Given the description of an element on the screen output the (x, y) to click on. 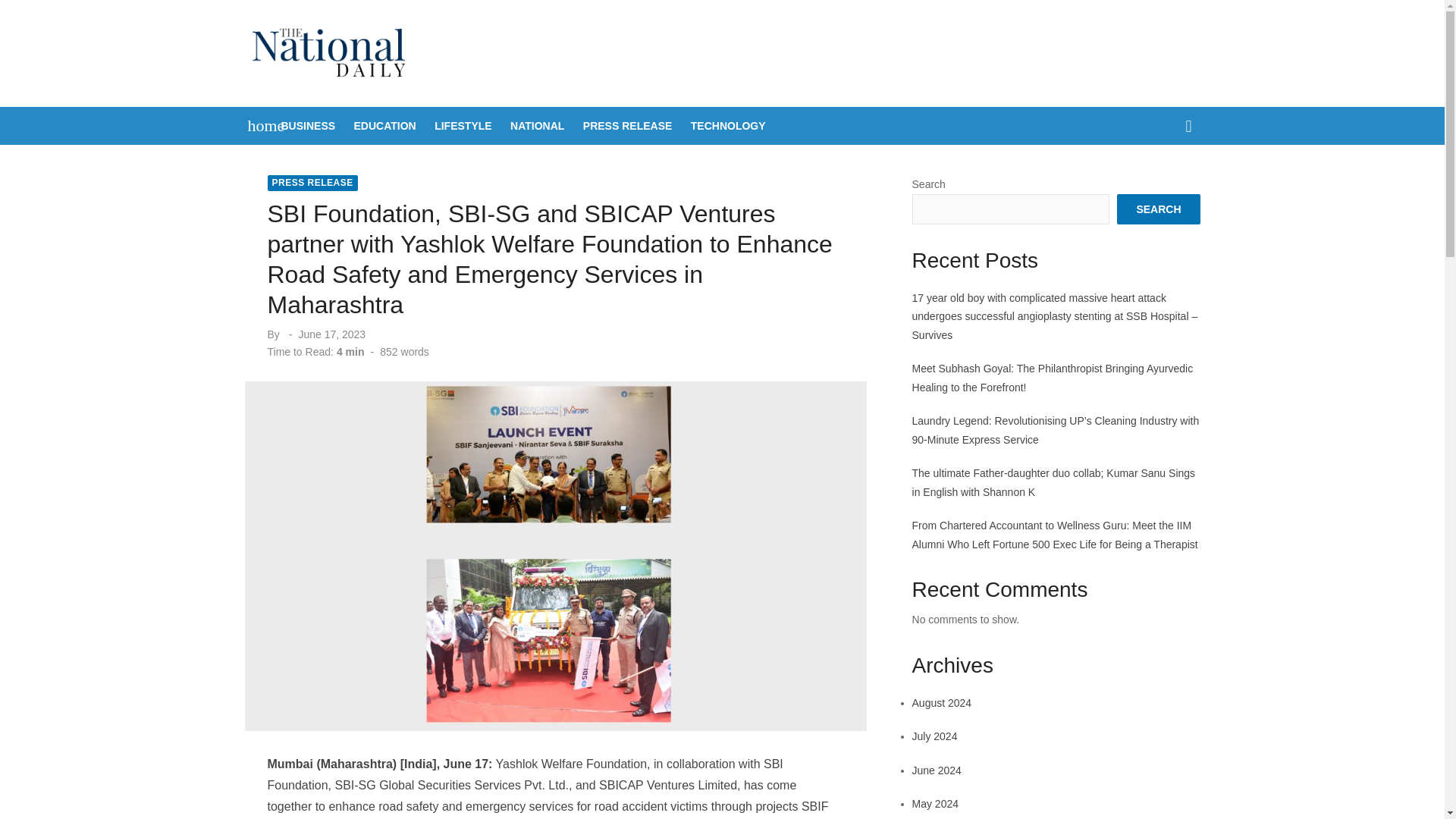
June 2024 (936, 770)
LIFESTYLE (462, 125)
NATIONAL (536, 125)
home (258, 125)
TECHNOLOGY (727, 125)
PRESS RELEASE (627, 125)
June 17, 2023 (331, 334)
EDUCATION (384, 125)
July 2024 (935, 736)
May 2024 (935, 803)
August 2024 (942, 702)
BUSINESS (307, 125)
PRESS RELEASE (311, 182)
